Given the description of an element on the screen output the (x, y) to click on. 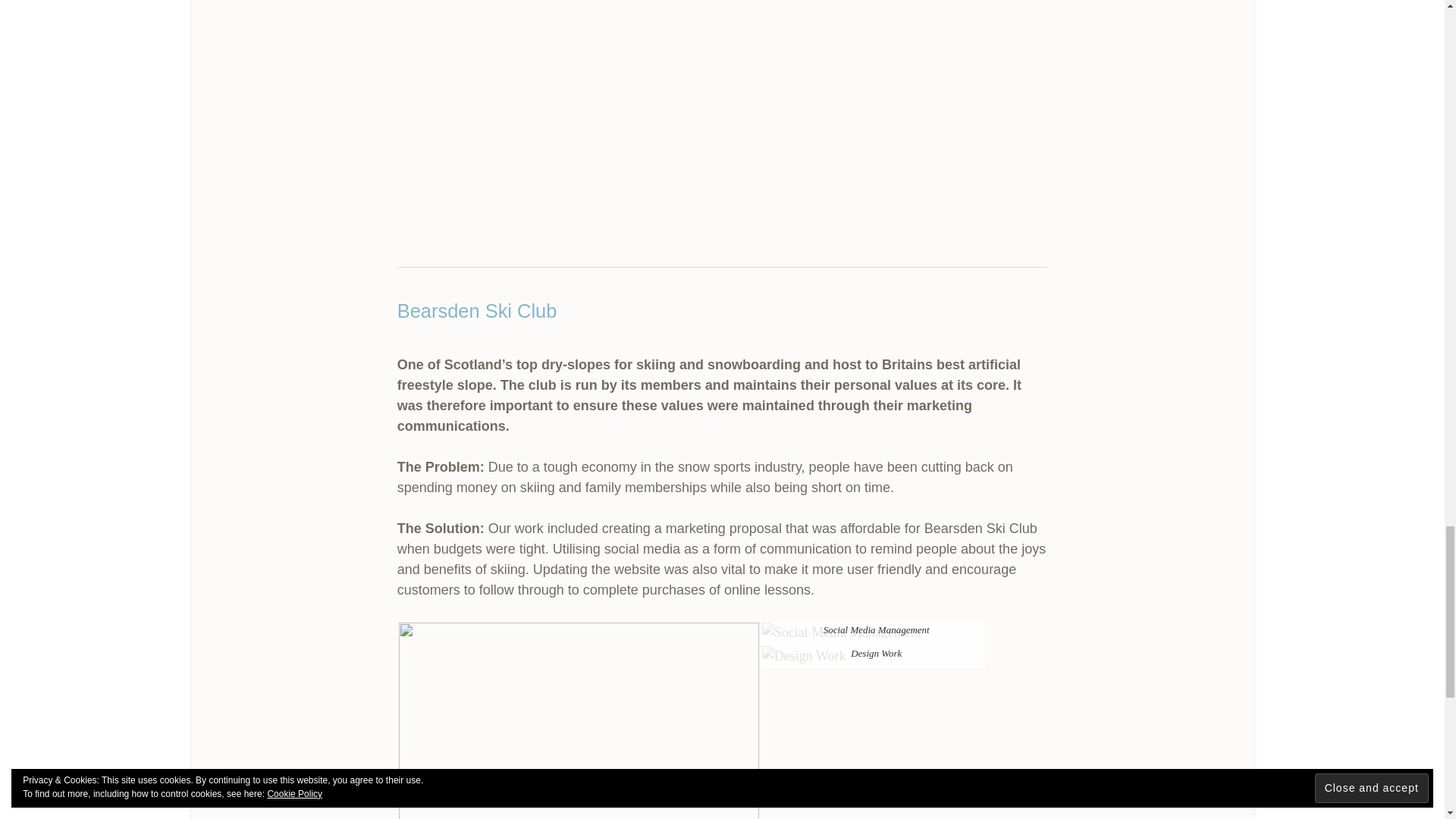
Social Media Management (841, 632)
Design Work (803, 656)
